Given the description of an element on the screen output the (x, y) to click on. 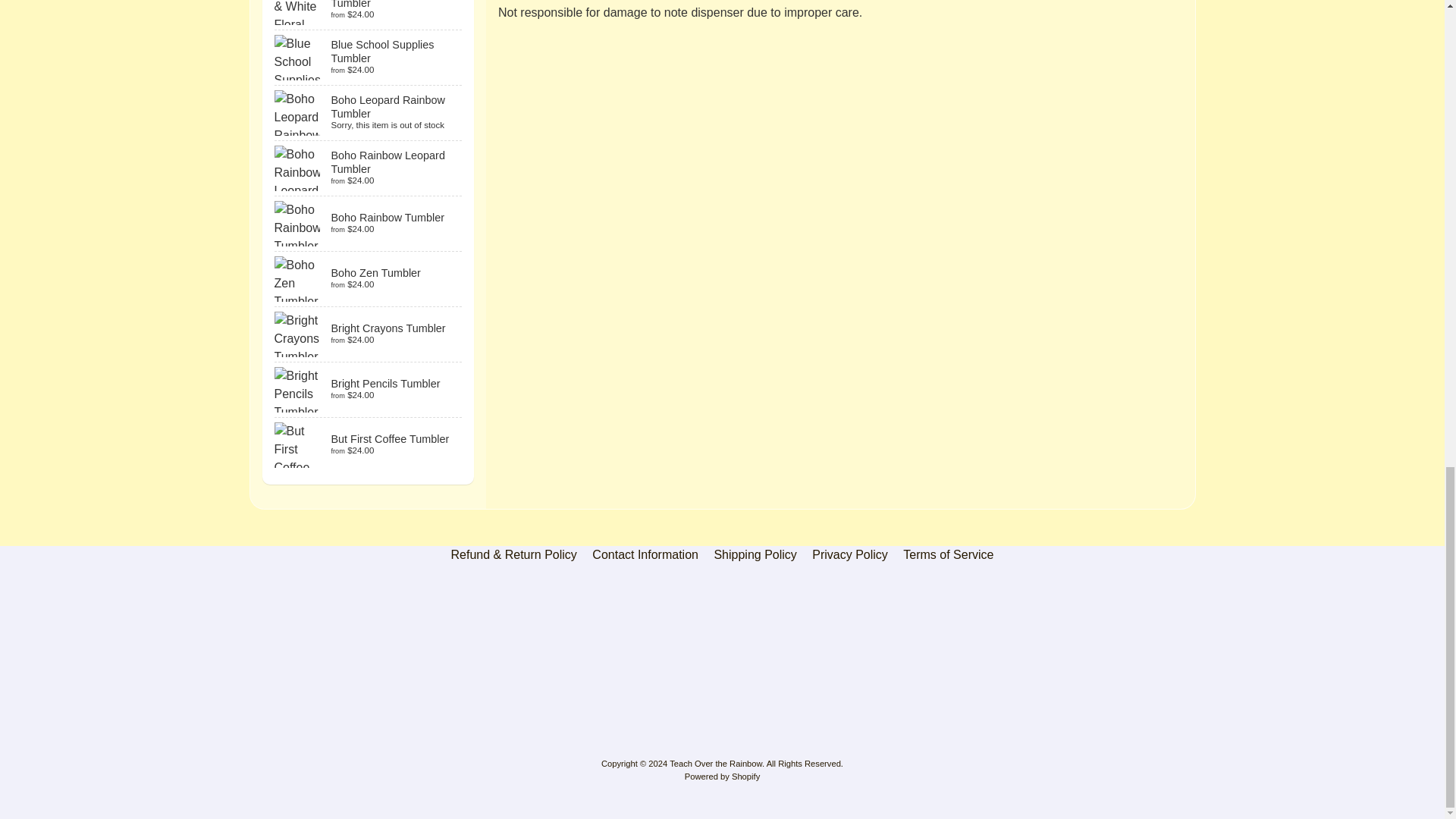
Blue School Supplies Tumbler (369, 57)
Boho Rainbow Tumbler (369, 223)
Bright Crayons Tumbler (369, 334)
Boho Rainbow Leopard Tumbler (369, 167)
Boho Leopard Rainbow Tumbler (369, 112)
Boho Zen Tumbler (369, 278)
